Given the description of an element on the screen output the (x, y) to click on. 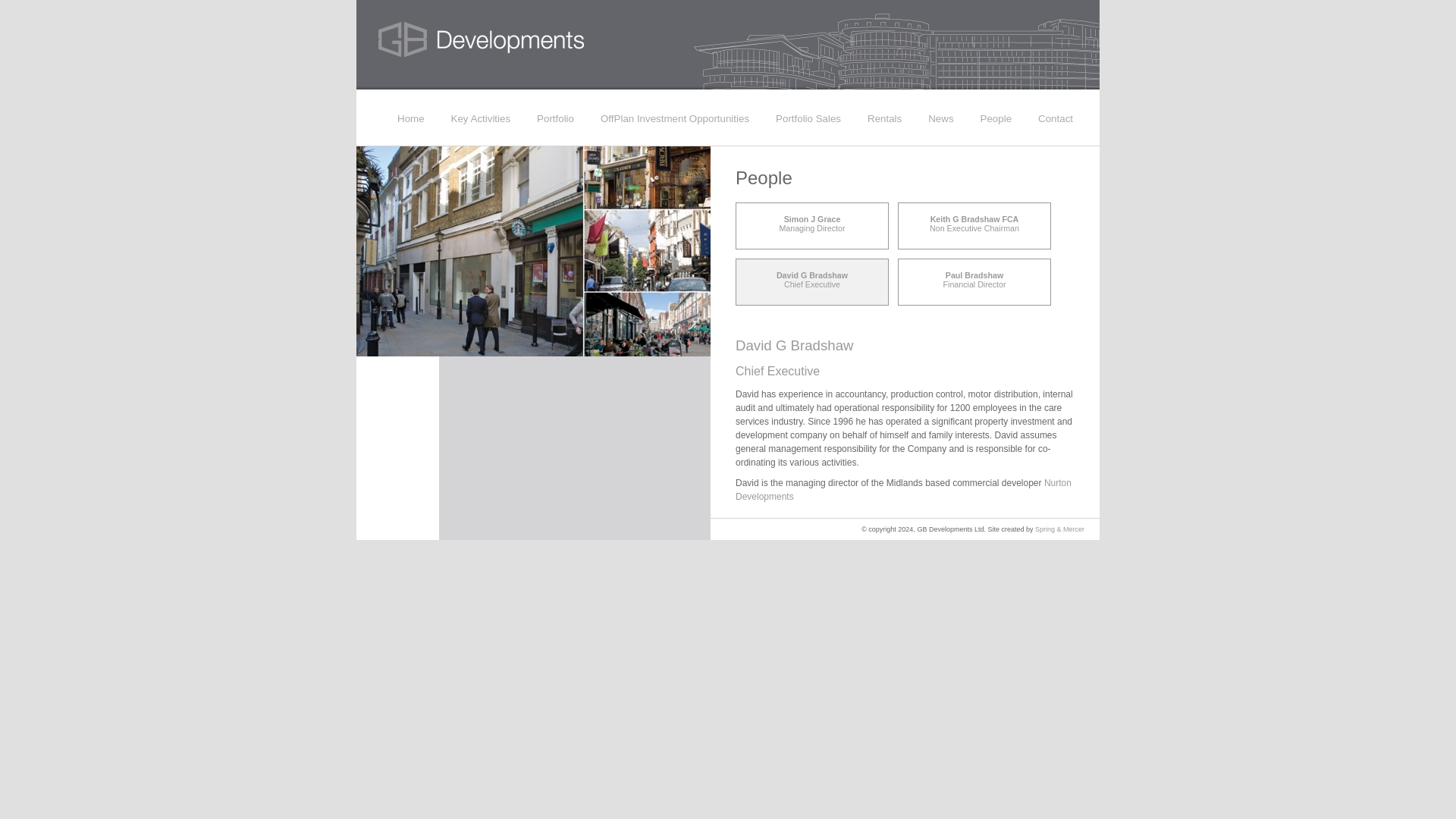
Portfolio Sales (808, 118)
Nurton Developments (812, 223)
Key Activities (973, 223)
OffPlan Investment Opportunities (812, 280)
